Given the description of an element on the screen output the (x, y) to click on. 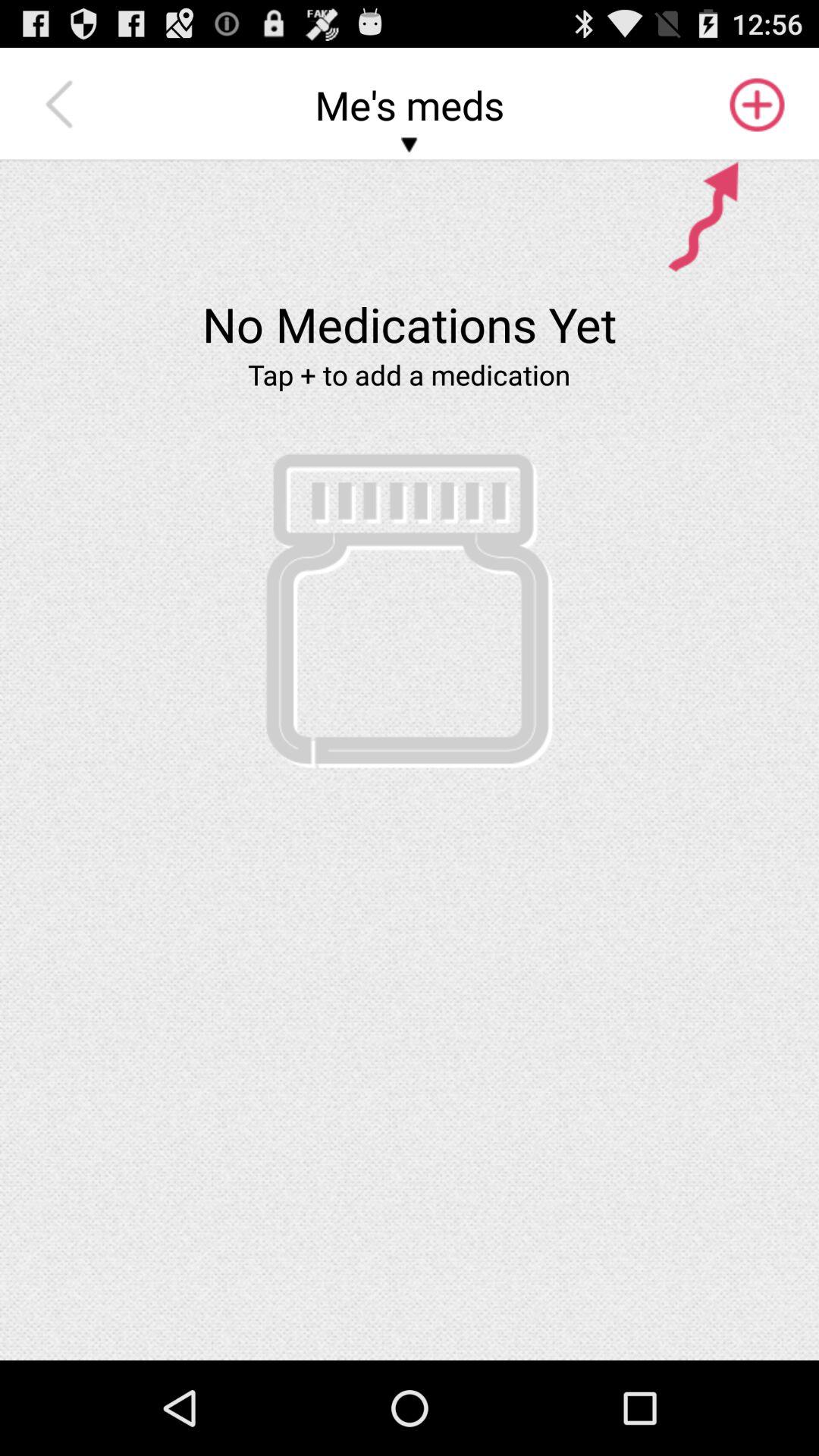
tap the icon next to me's meds (755, 104)
